Given the description of an element on the screen output the (x, y) to click on. 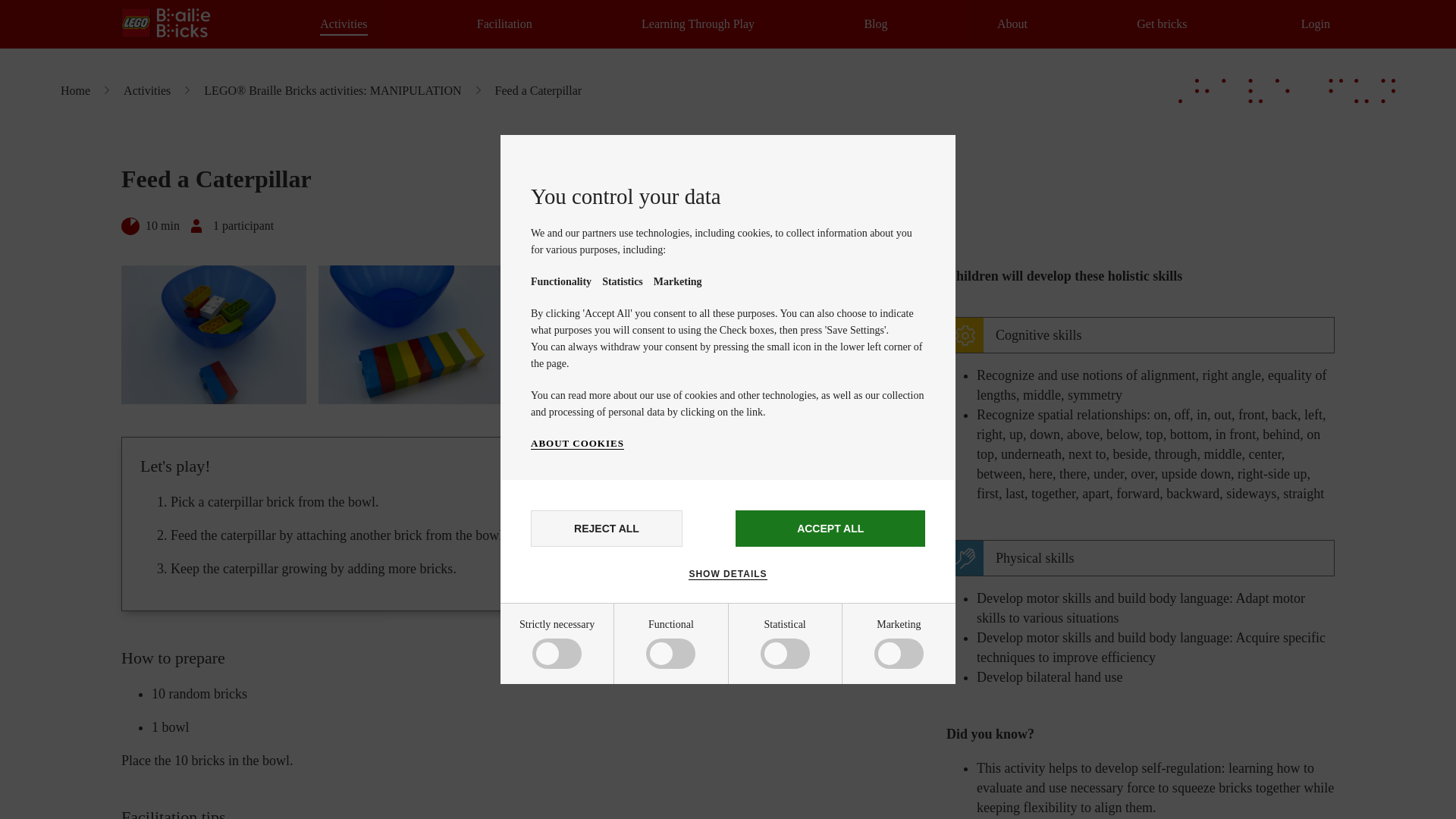
Learning Through Play (698, 24)
Facilitation (504, 24)
ABOUT COOKIES (577, 443)
REJECT ALL (606, 528)
About (1012, 24)
Marketing (585, 809)
Activities (343, 24)
Blog (874, 24)
SHOW DETAILS (727, 573)
Strictly necessary (585, 657)
ACCEPT ALL (829, 528)
Statistical (585, 766)
Functional (585, 714)
